Given the description of an element on the screen output the (x, y) to click on. 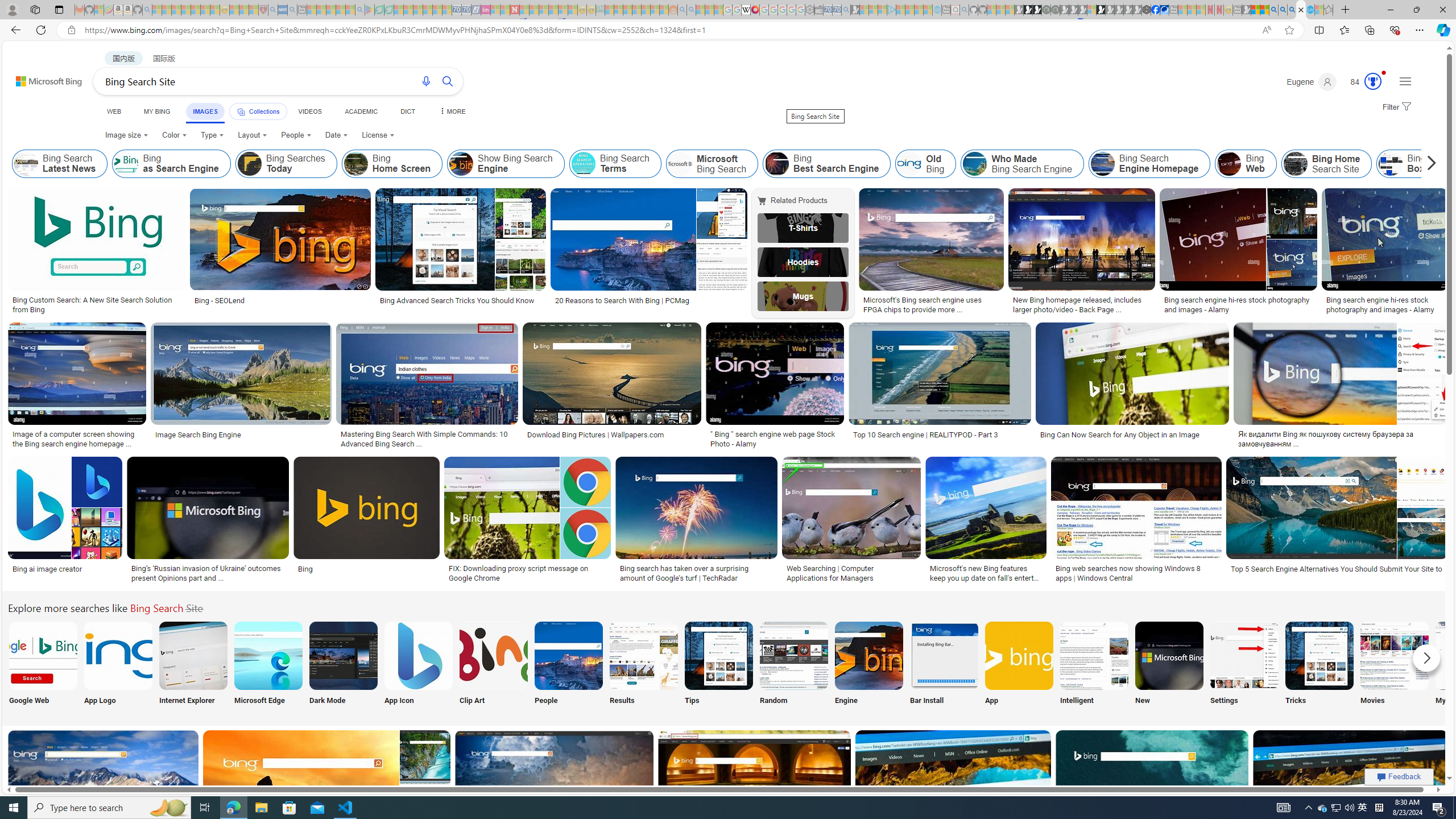
AutomationID: rh_meter (1372, 80)
Bing Search Latest News (25, 163)
Top 10 Search engine | REALITYPOD - Part 3 (925, 434)
20 Reasons to Search With Bing | PCMag (648, 299)
Download Bing Pictures | Wallpapers.comSave (614, 387)
Microsoft Rewards 84 (1362, 81)
